Given the description of an element on the screen output the (x, y) to click on. 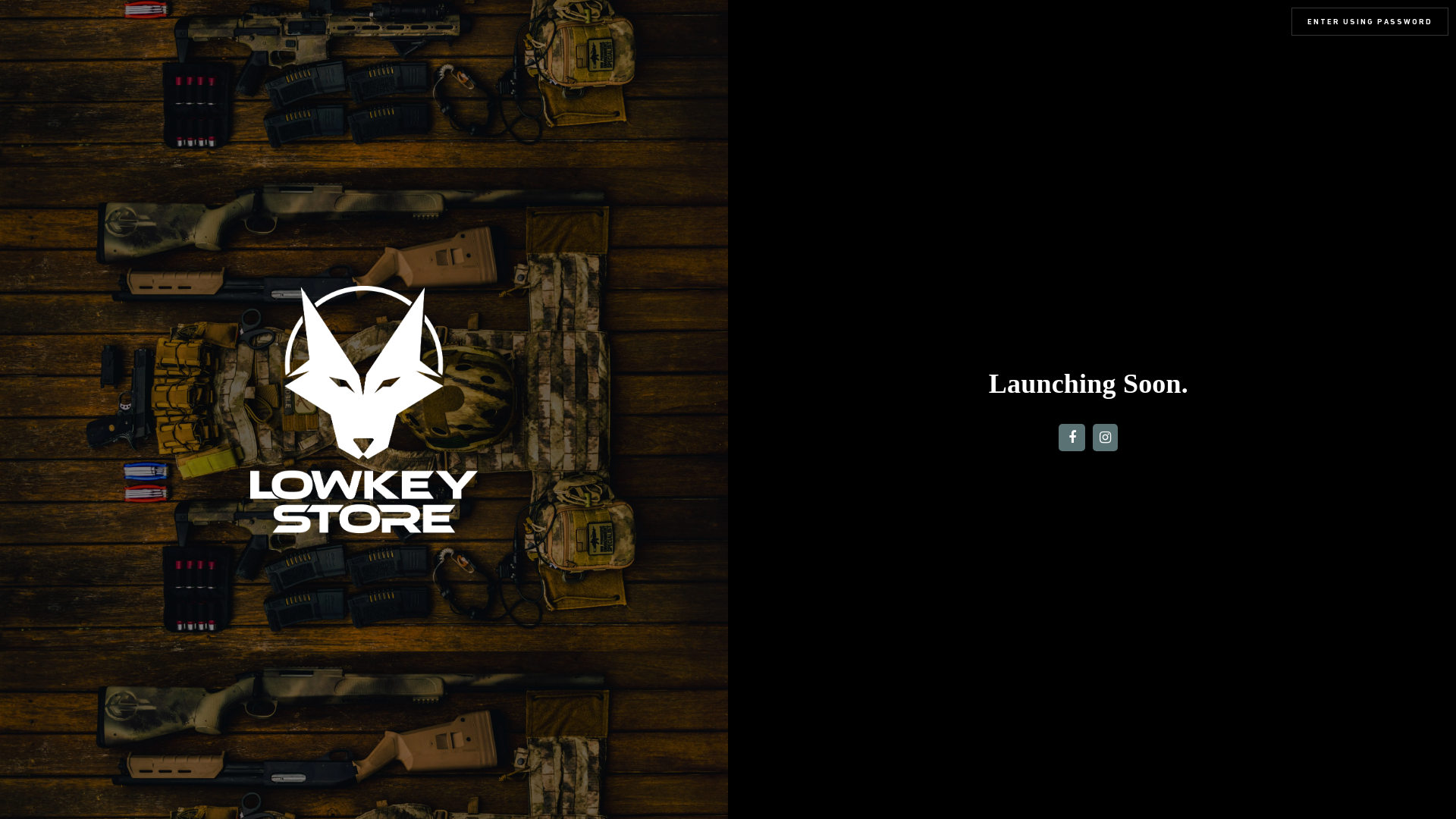
ENTER USING PASSWORD Element type: text (1369, 21)
